Given the description of an element on the screen output the (x, y) to click on. 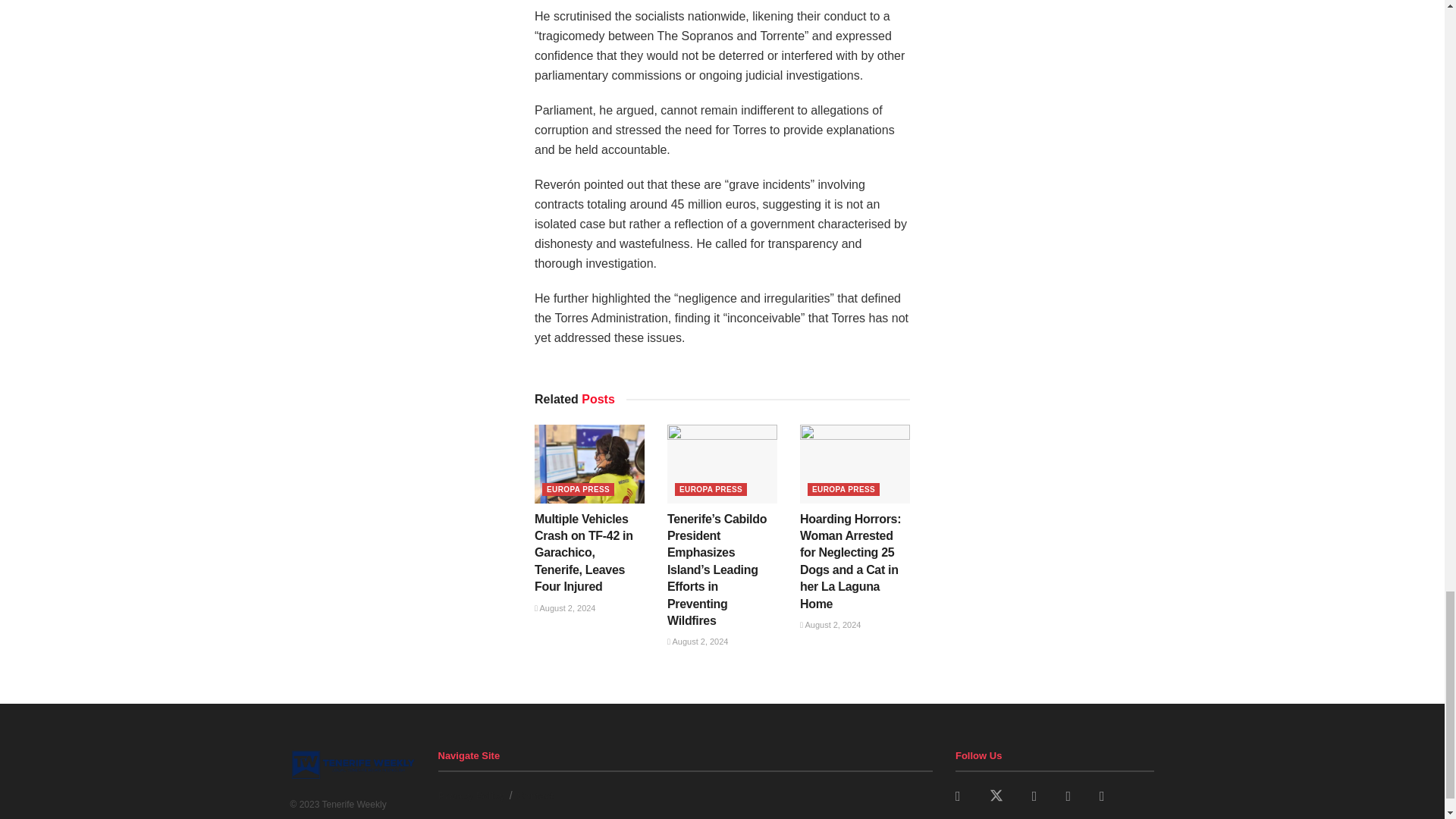
EUROPA PRESS (577, 489)
